Given the description of an element on the screen output the (x, y) to click on. 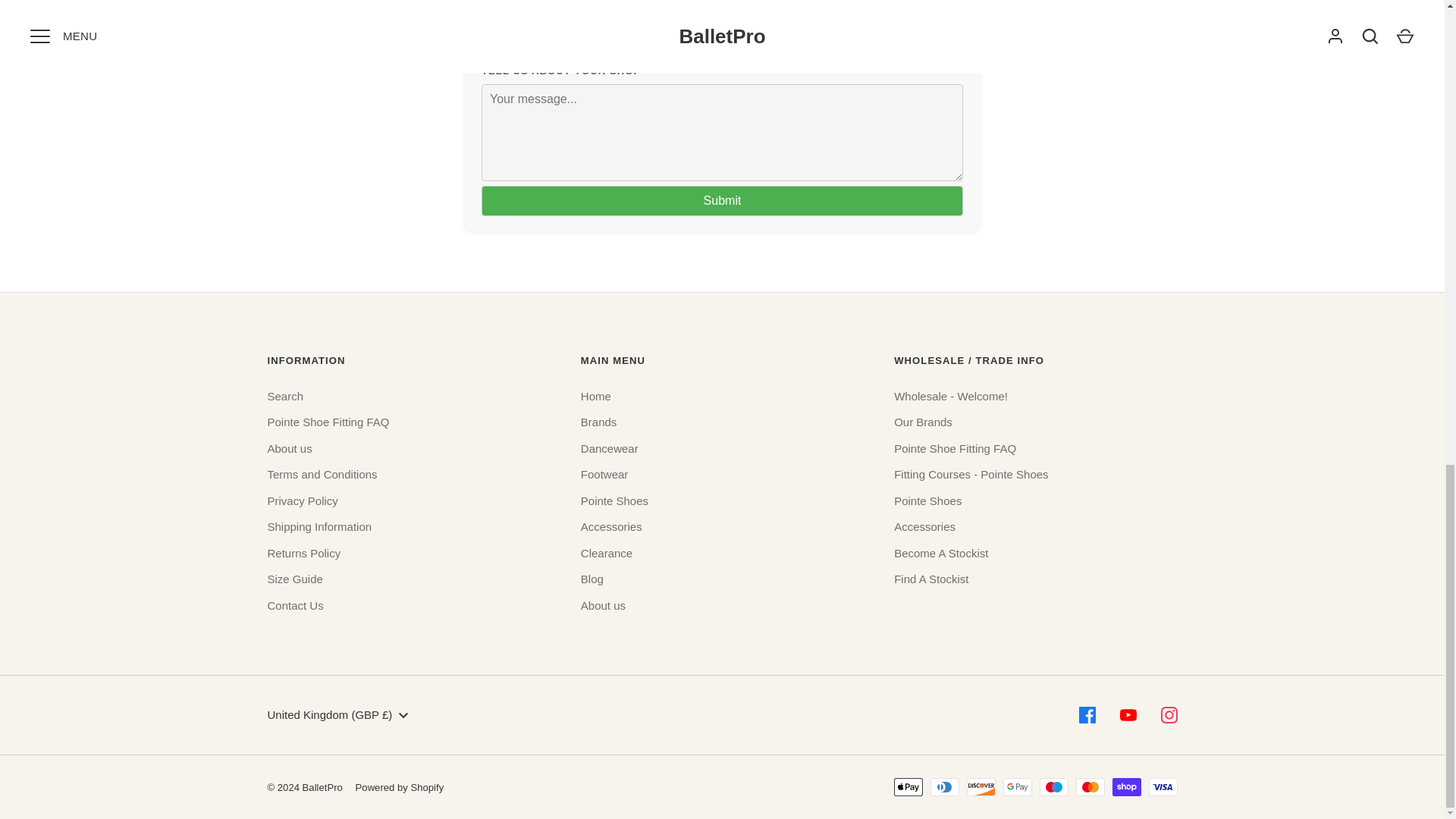
Submit (721, 200)
Down (403, 715)
